Given the description of an element on the screen output the (x, y) to click on. 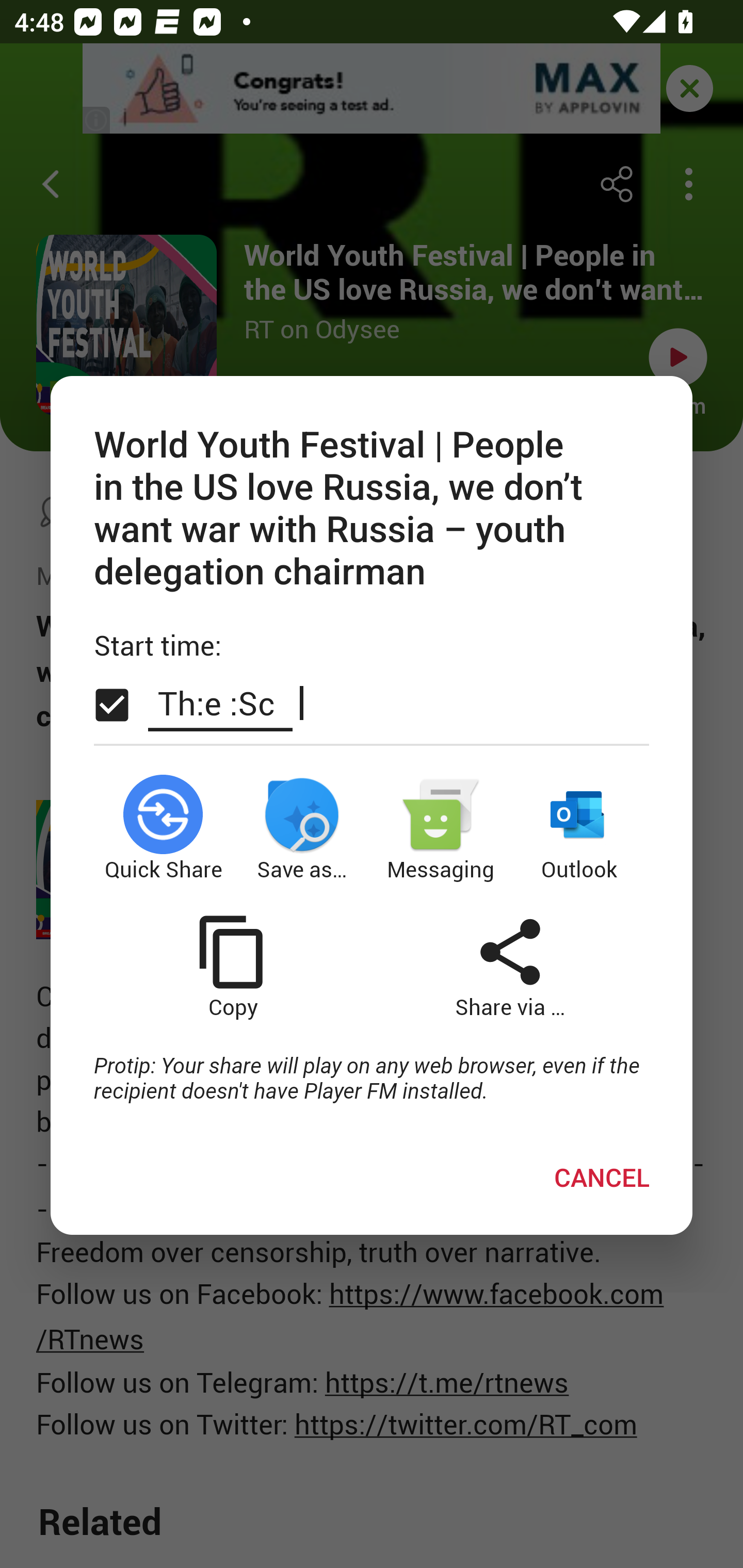
The Sc (220, 702)
Quick Share (163, 828)
Save as… (301, 828)
Messaging (440, 828)
Outlook (579, 828)
Copy (232, 966)
Share via … (509, 966)
CANCEL (600, 1176)
